Given the description of an element on the screen output the (x, y) to click on. 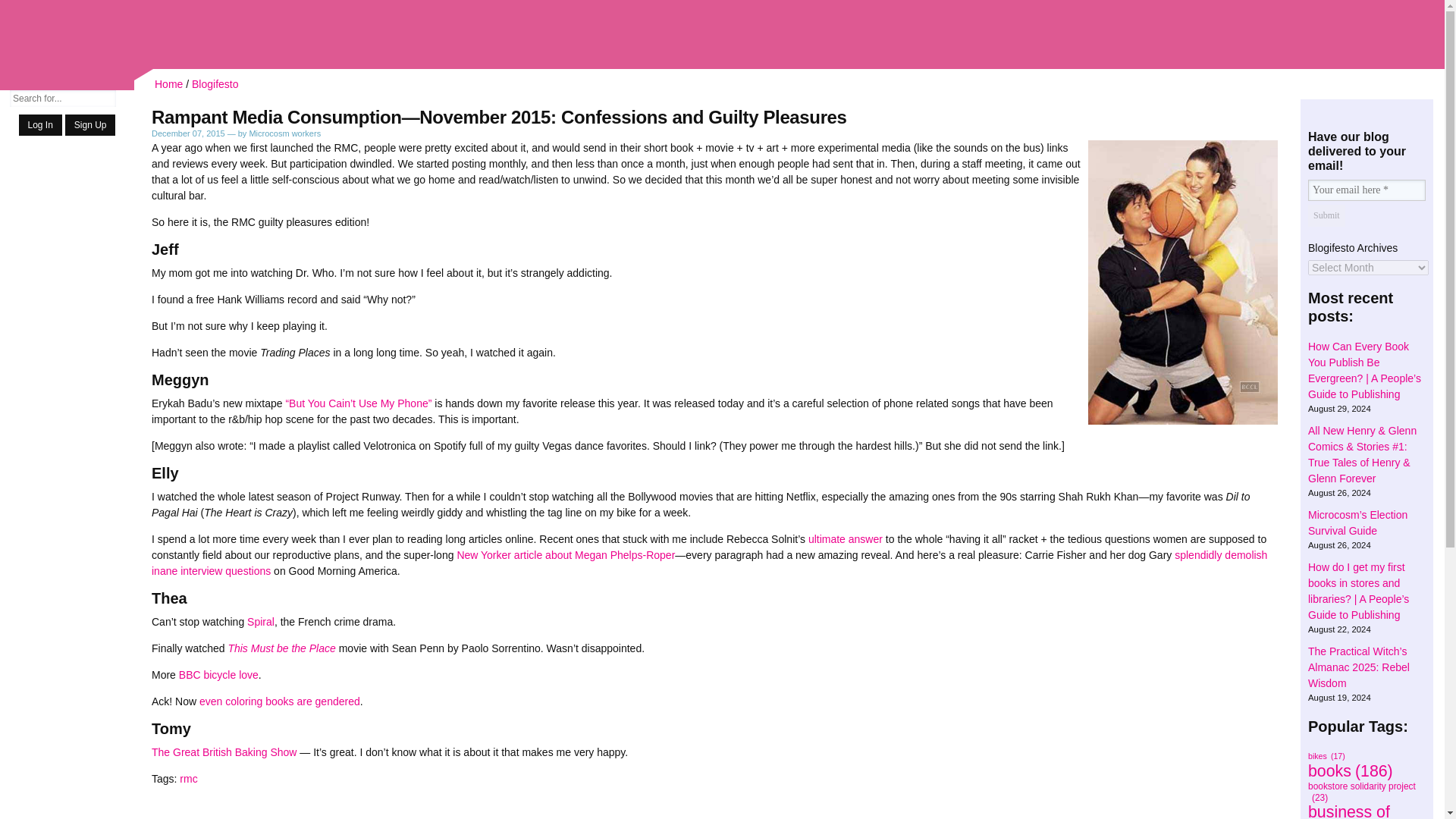
Jump to totally random title (66, 156)
Magnets (66, 466)
even coloring books are gendered (279, 701)
Log In (40, 124)
Spiral (261, 621)
One Copy Left (66, 552)
Dealz (66, 409)
Enamel Pins (66, 366)
The Great British Baking Show (224, 752)
Books (66, 181)
